Given the description of an element on the screen output the (x, y) to click on. 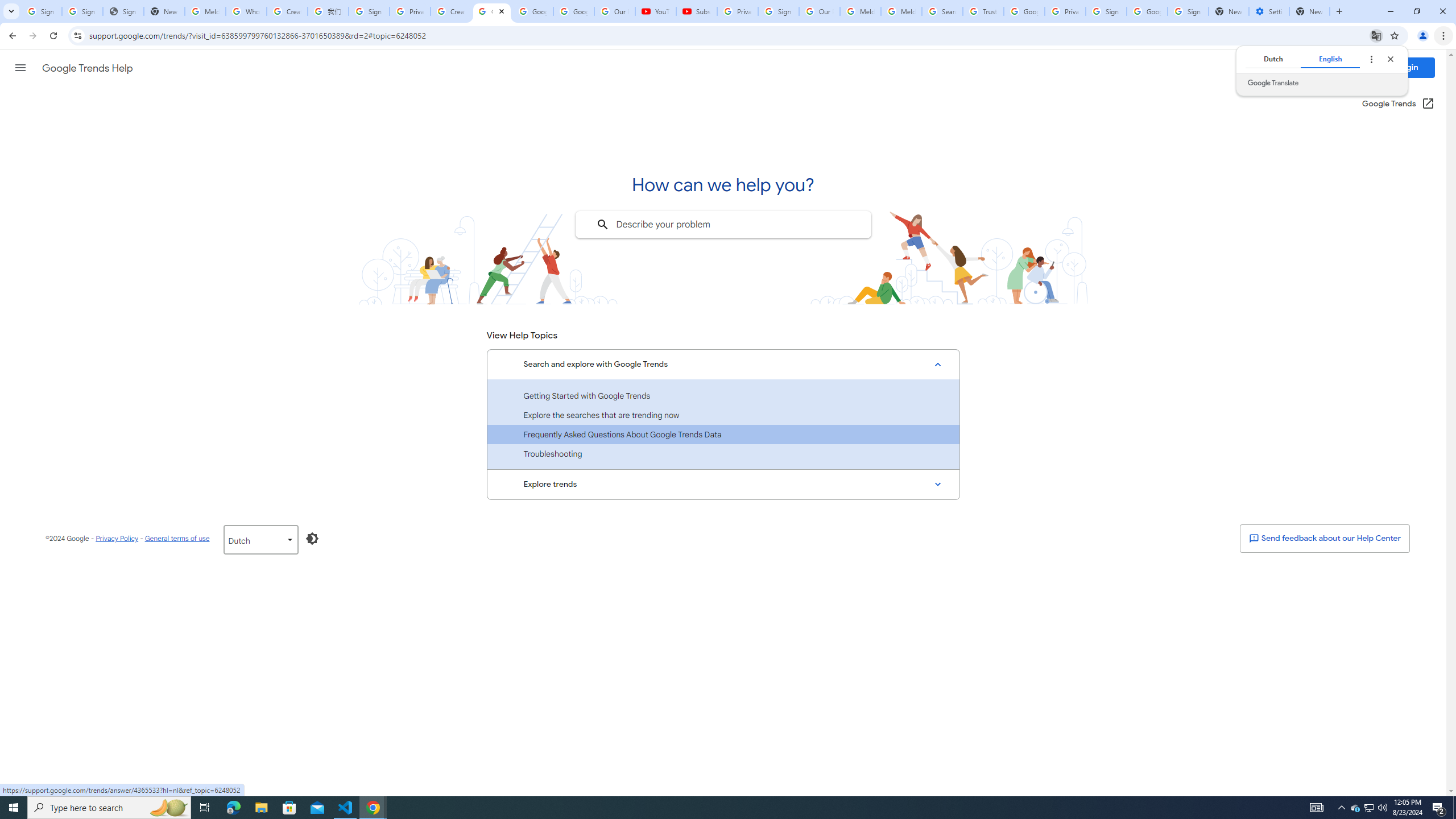
Main menu (20, 67)
Google Trends Help (86, 68)
To search (601, 224)
Who is my administrator? - Google Account Help (246, 11)
Sign in - Google Accounts (41, 11)
General terms of use (176, 537)
Google Trends Help (490, 11)
English (1329, 58)
Translate options (1370, 58)
Google Ads - Sign in (1023, 11)
Trusted Information and Content - Google Safety Center (983, 11)
